Given the description of an element on the screen output the (x, y) to click on. 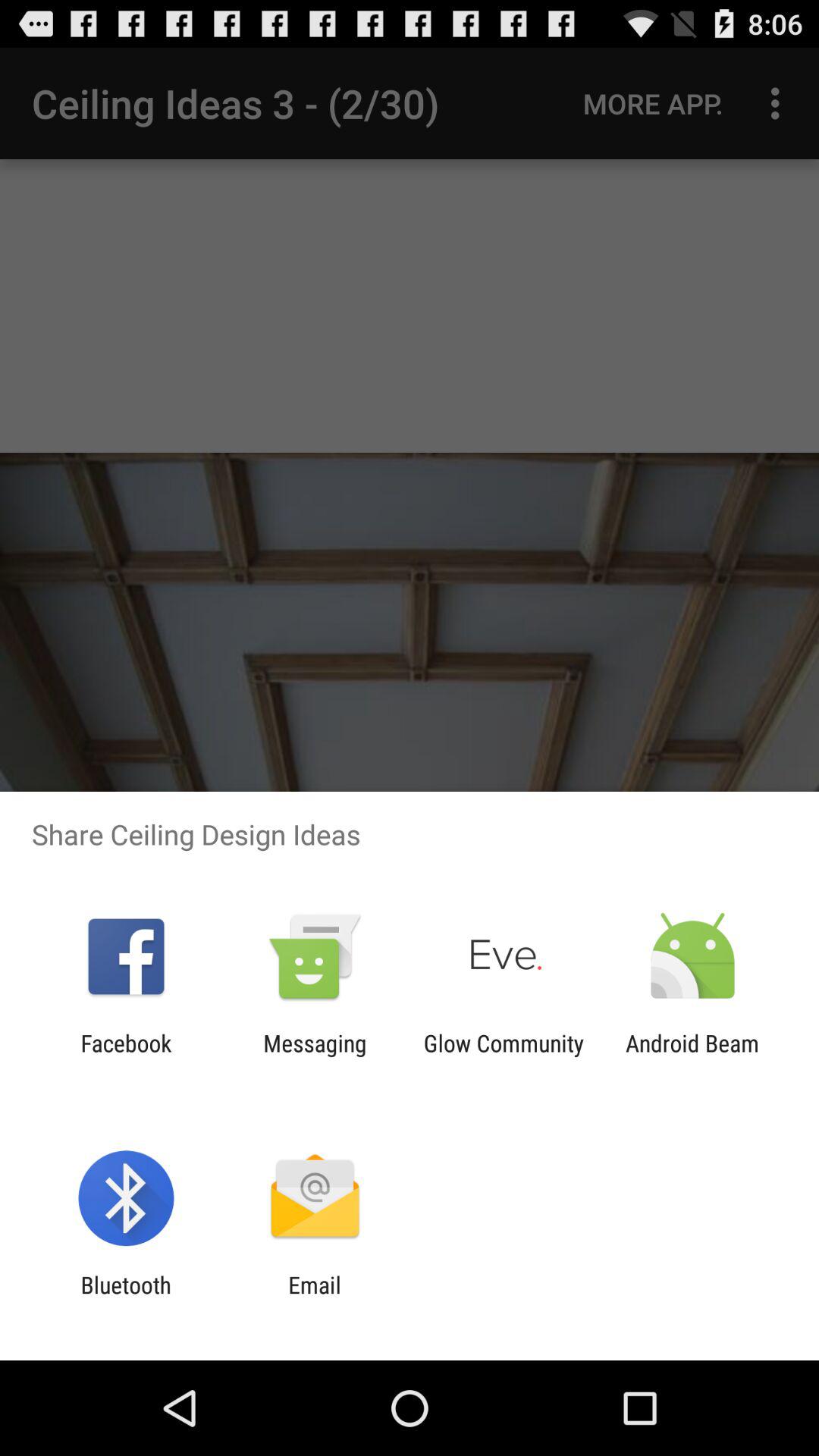
choose the app next to the android beam app (503, 1056)
